Given the description of an element on the screen output the (x, y) to click on. 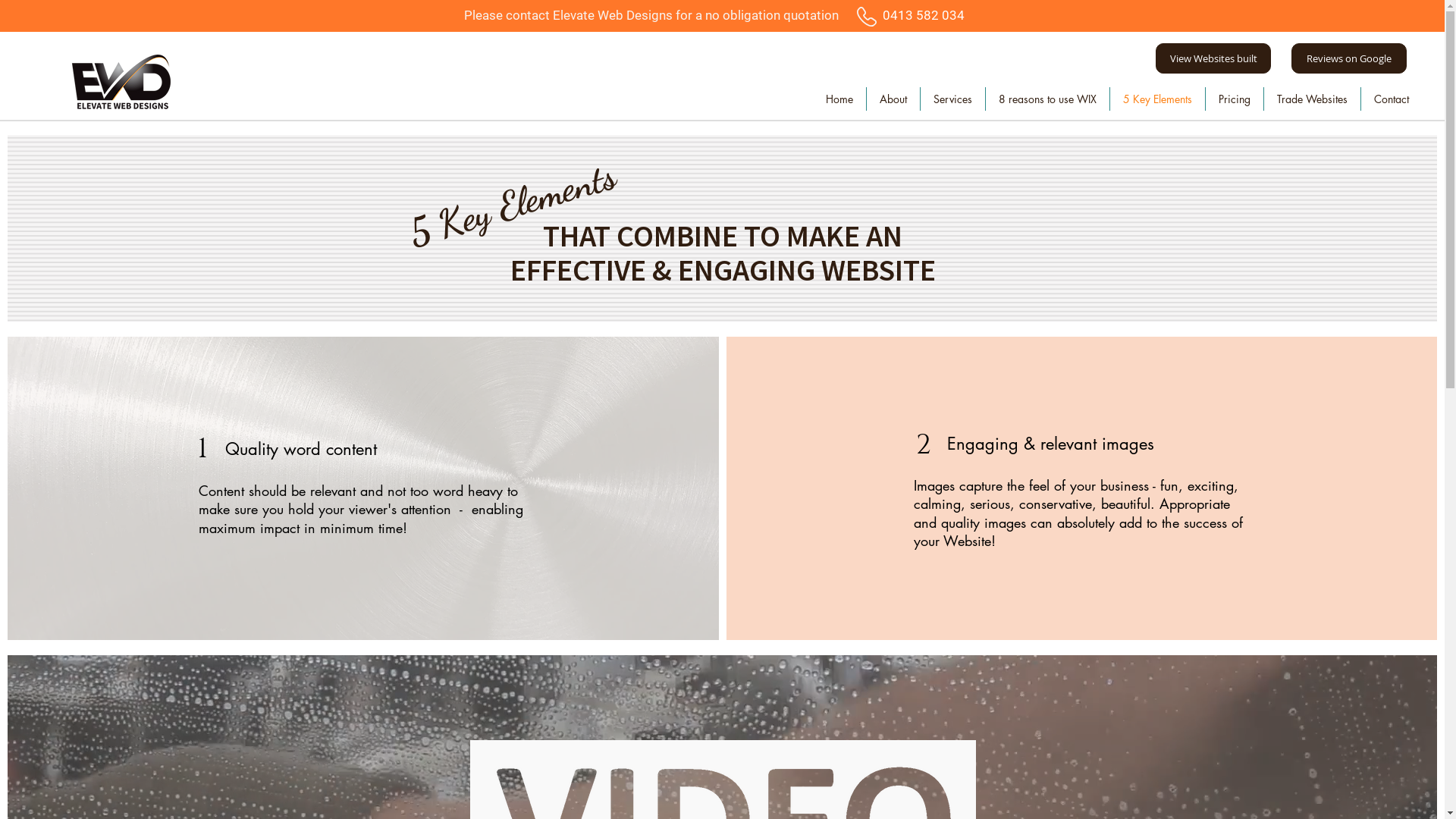
Trade Websites Element type: text (1312, 98)
About Element type: text (892, 98)
0413 582 034 Element type: text (926, 15)
8 reasons to use WIX Element type: text (1047, 98)
Contact Element type: text (1391, 98)
View Websites built Element type: text (1212, 58)
Pricing Element type: text (1234, 98)
Reviews on Google Element type: text (1348, 58)
Services Element type: text (952, 98)
Home Element type: text (839, 98)
5 Key Elements Element type: text (1157, 98)
